Given the description of an element on the screen output the (x, y) to click on. 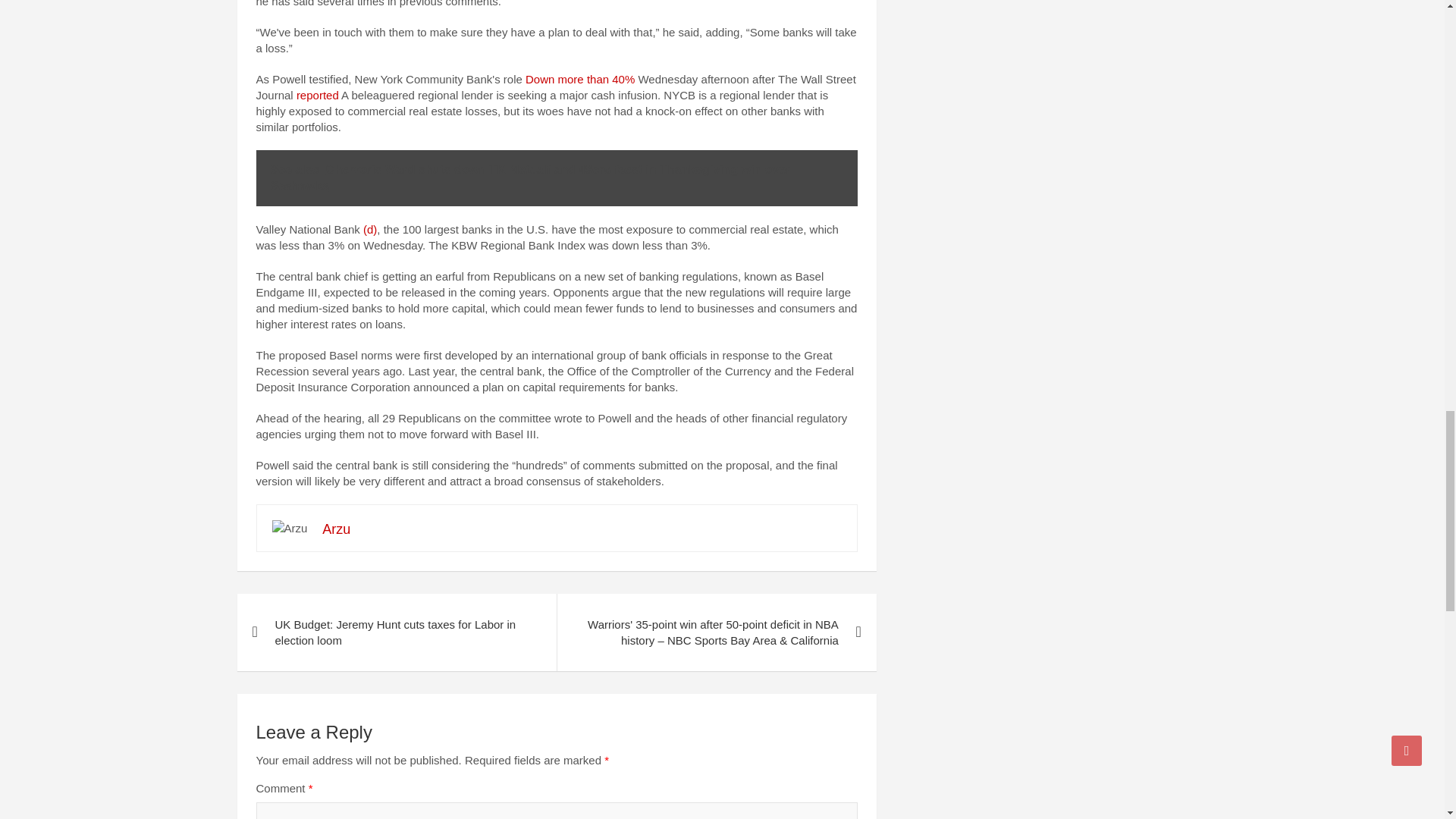
Arzu (335, 529)
reported (318, 94)
UK Budget: Jeremy Hunt cuts taxes for Labor in election loom (395, 631)
